Given the description of an element on the screen output the (x, y) to click on. 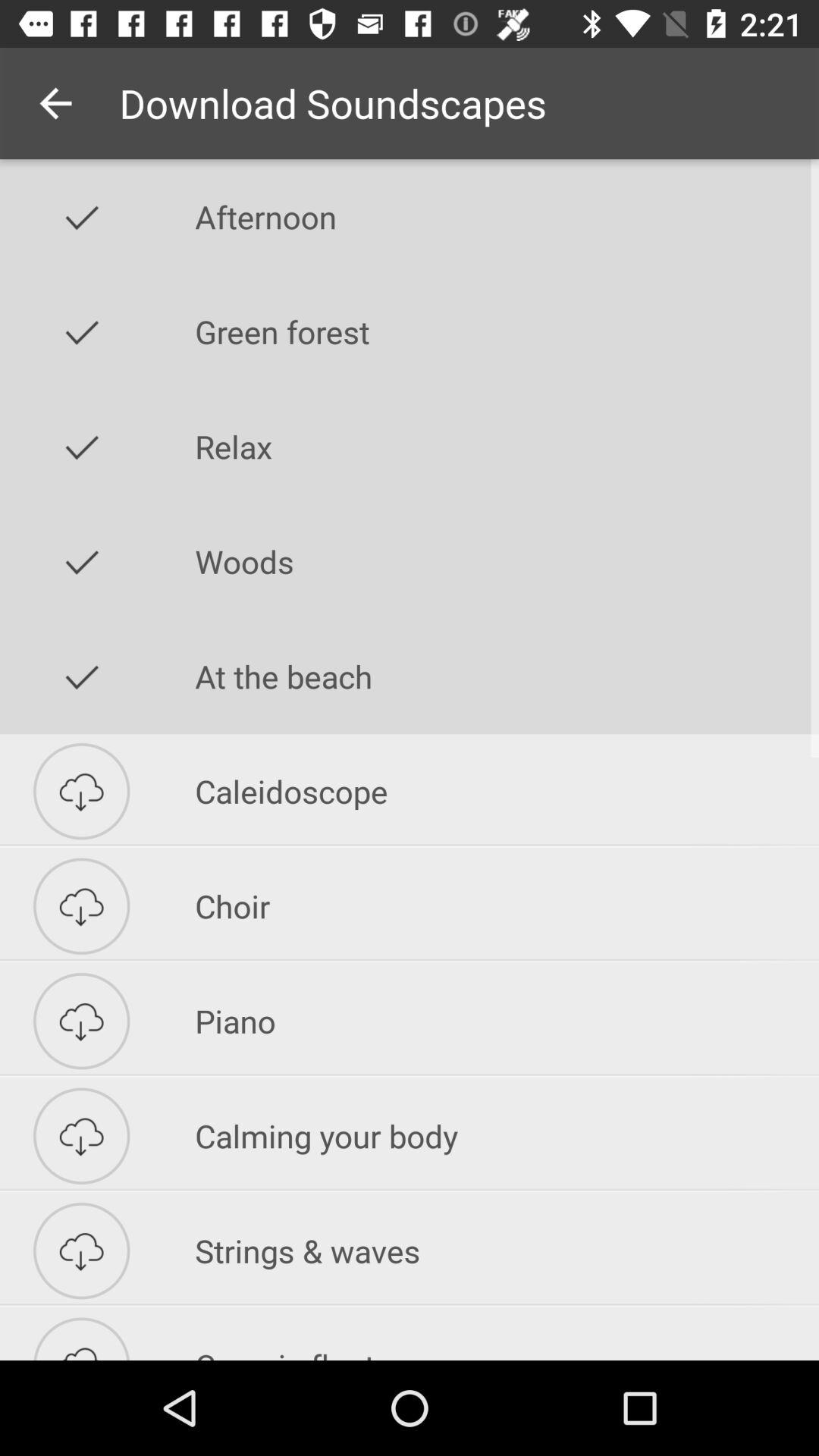
click the piano icon (507, 1020)
